Given the description of an element on the screen output the (x, y) to click on. 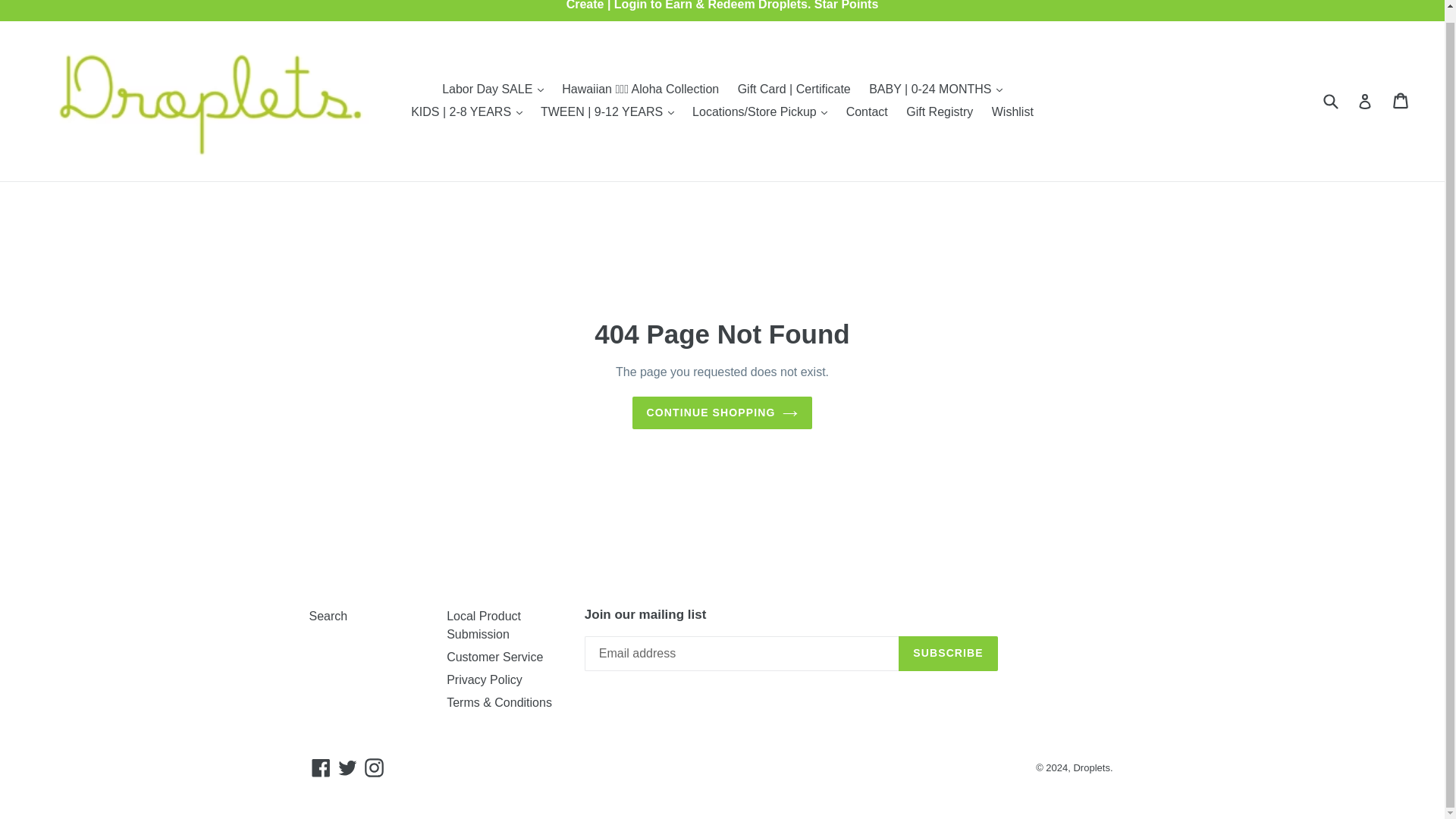
Droplets. on Twitter (347, 767)
Droplets. on Instagram (373, 767)
Droplets. on Facebook (320, 767)
